Given the description of an element on the screen output the (x, y) to click on. 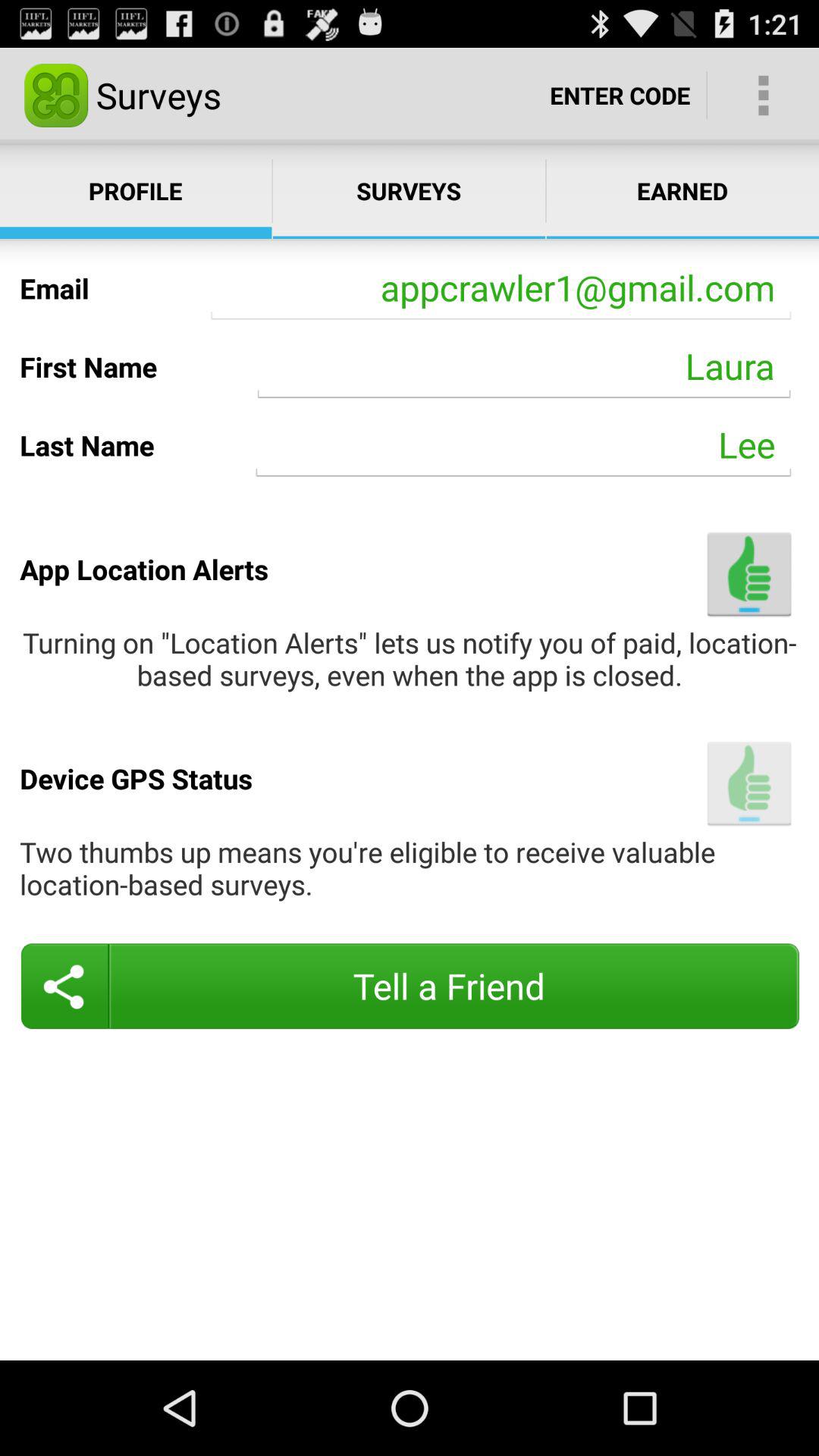
click the icon next to first name item (523, 366)
